Given the description of an element on the screen output the (x, y) to click on. 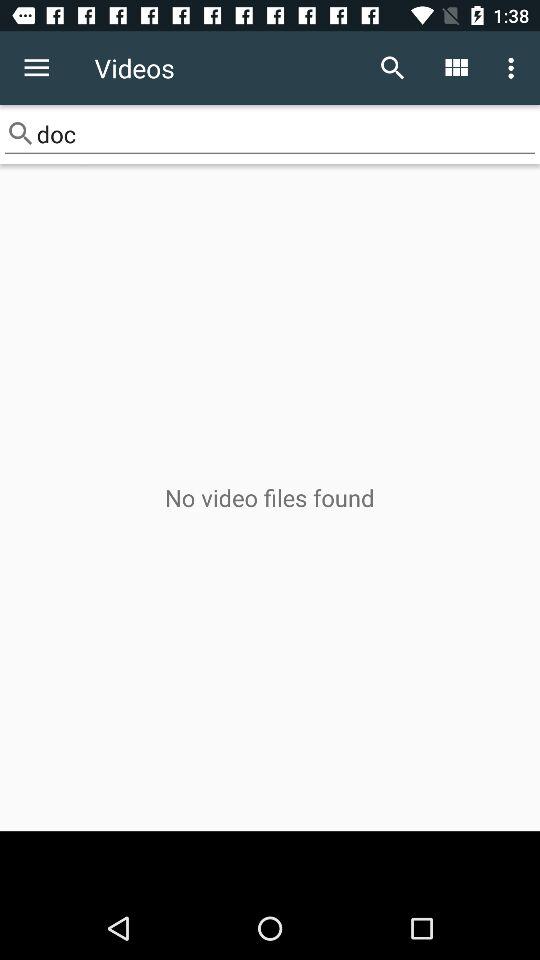
tap item above the doc (392, 67)
